Given the description of an element on the screen output the (x, y) to click on. 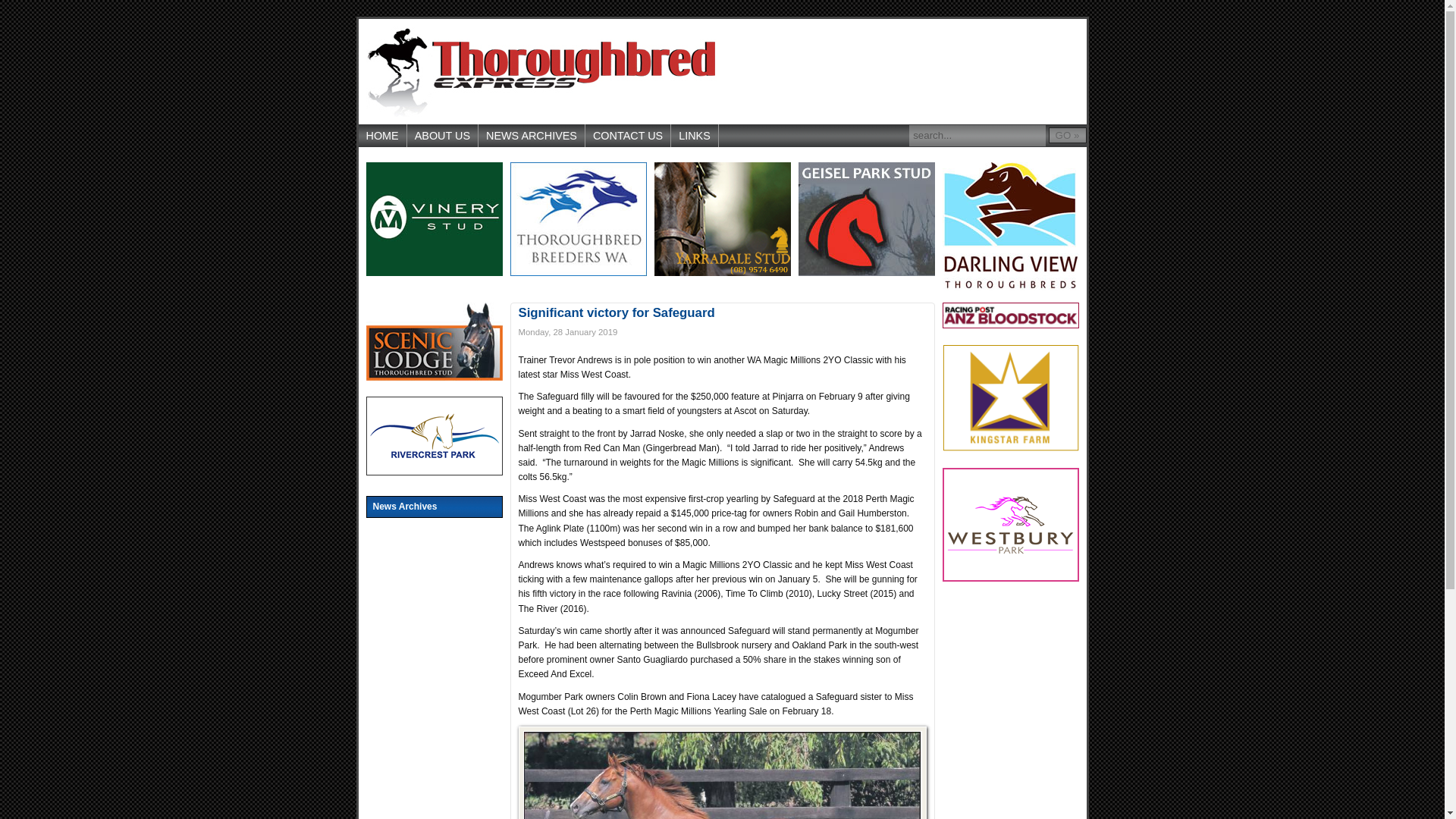
LINKS (695, 135)
News Archives (433, 506)
Thoroughbred Express (540, 71)
HOME (382, 135)
ABOUT US (443, 135)
search... (976, 135)
NEWS ARCHIVES (532, 135)
CONTACT US (628, 135)
Thoroughbred Express (540, 71)
